Given the description of an element on the screen output the (x, y) to click on. 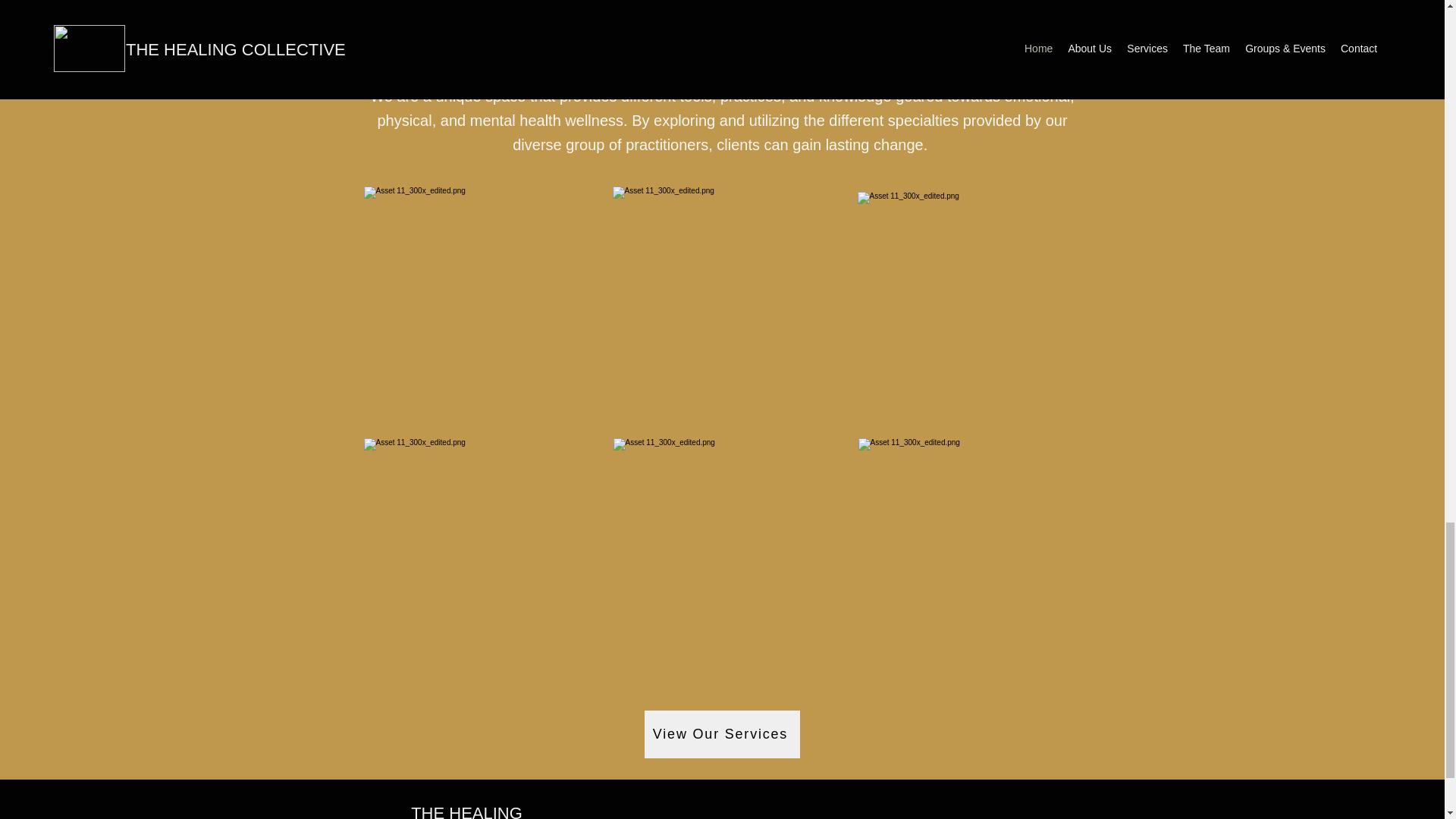
View Our Services (722, 734)
